Given the description of an element on the screen output the (x, y) to click on. 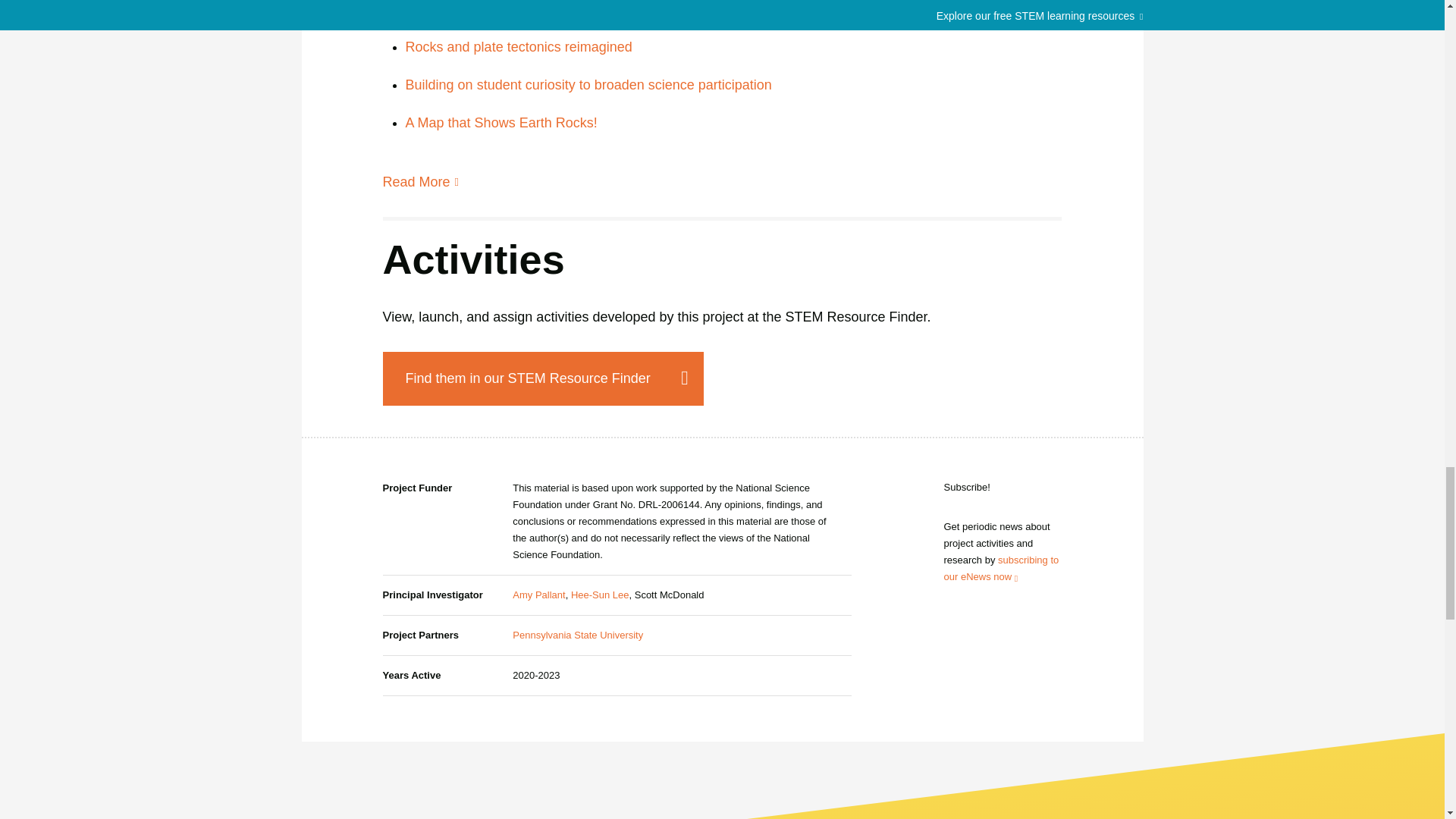
Hee-Sun Lee (599, 594)
Pennsylvania State University (577, 634)
Blog Posts About TecRocks (415, 181)
Amy Pallant (538, 594)
